Given the description of an element on the screen output the (x, y) to click on. 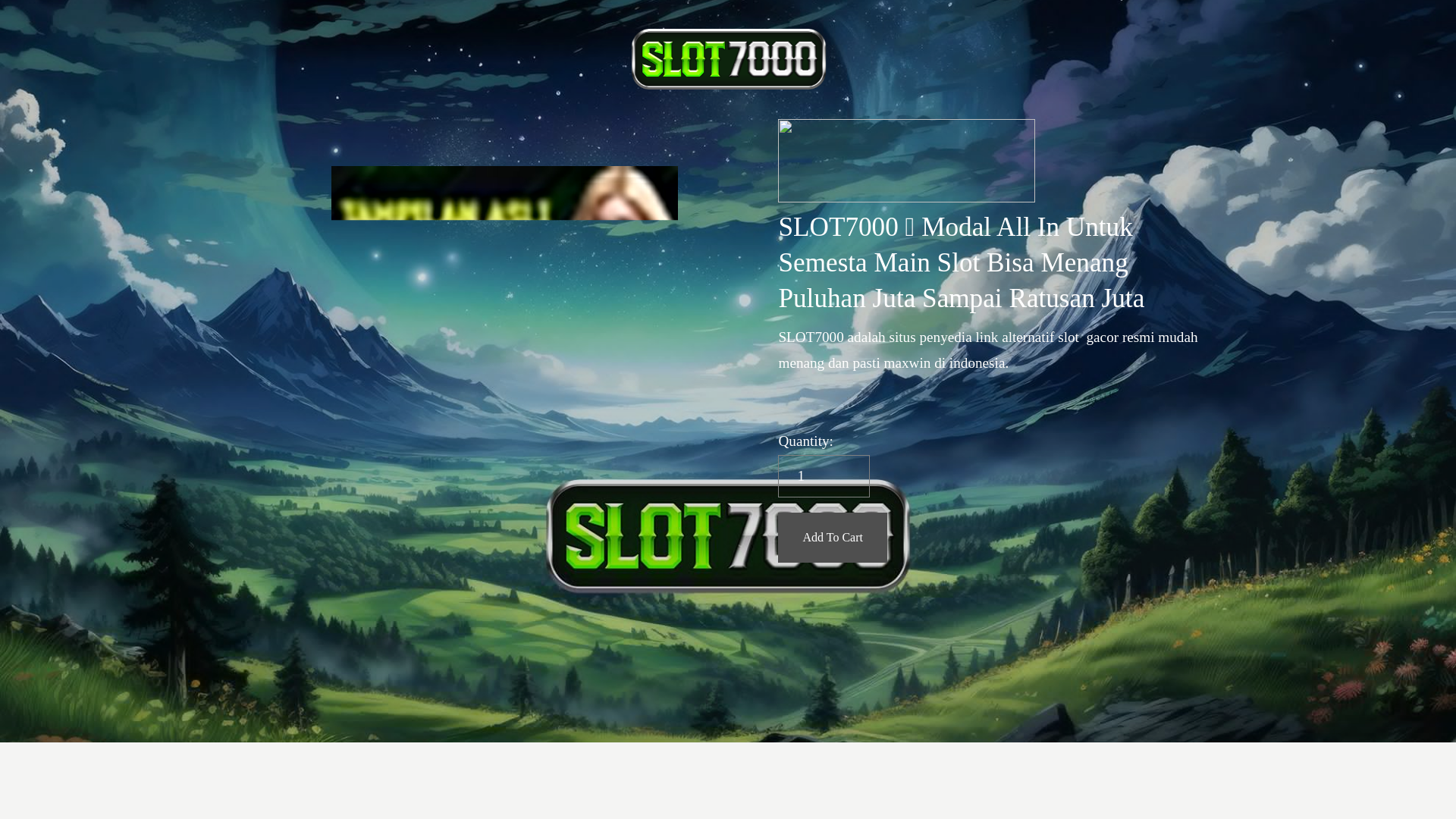
1 (823, 476)
